Given the description of an element on the screen output the (x, y) to click on. 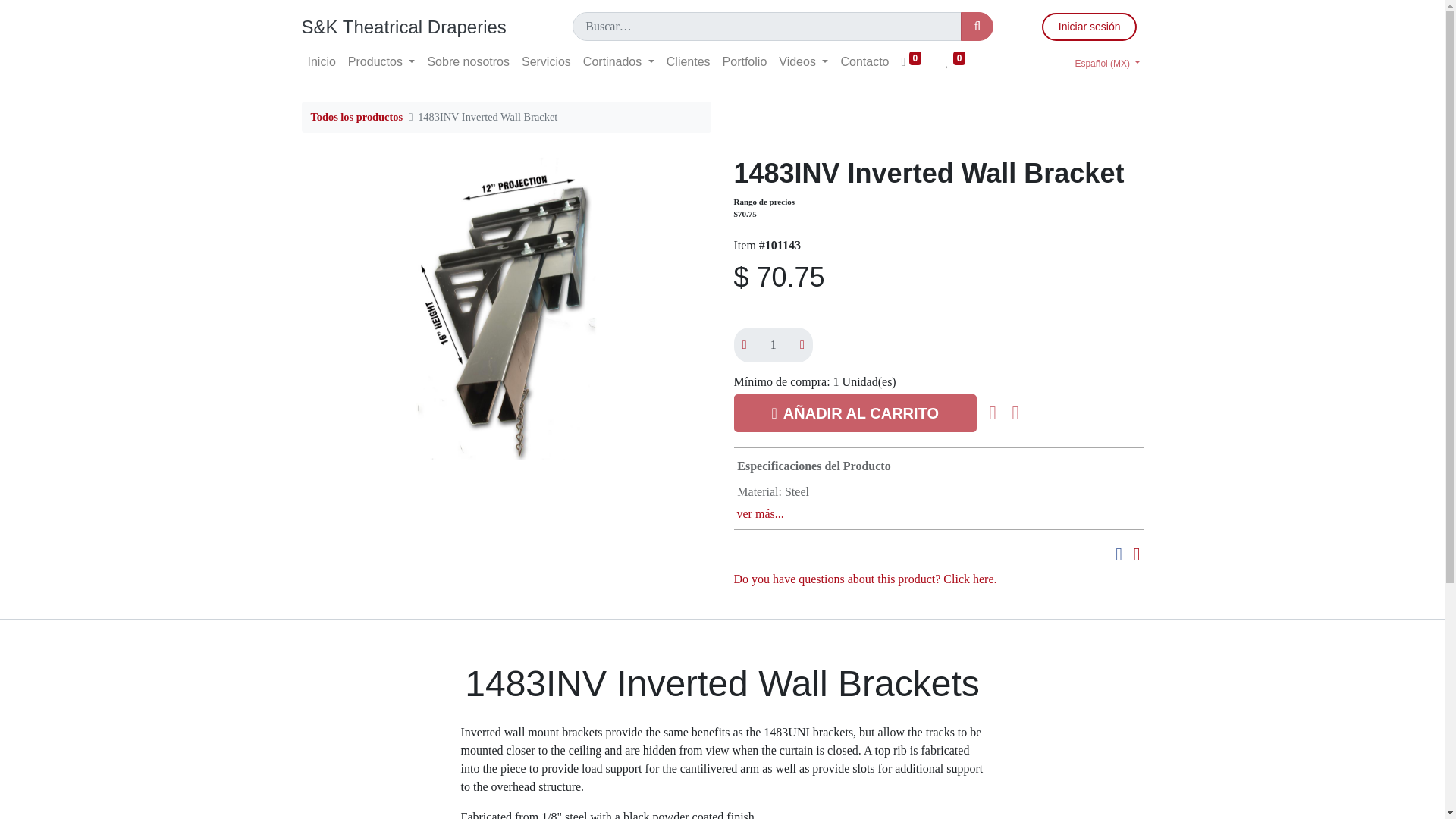
Inicio (321, 61)
1 (773, 344)
Productos (382, 61)
